Given the description of an element on the screen output the (x, y) to click on. 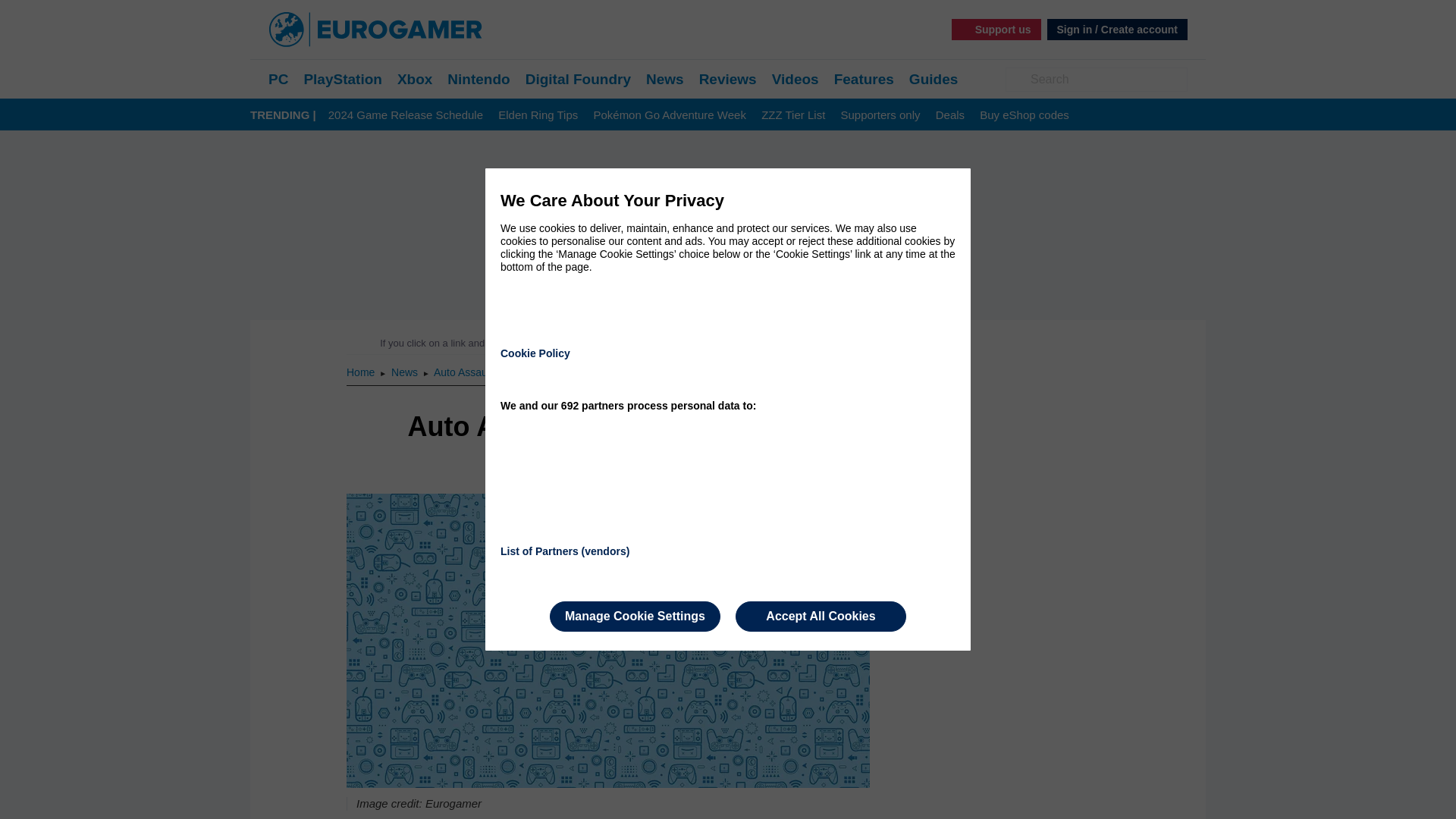
2024 Game Release Schedule (406, 114)
News (405, 372)
Read our editorial policy (781, 342)
Xbox (414, 78)
Deals (949, 114)
News (405, 372)
Guides (933, 78)
Support us (996, 29)
PlayStation (341, 78)
Buy eShop codes (1023, 114)
